Given the description of an element on the screen output the (x, y) to click on. 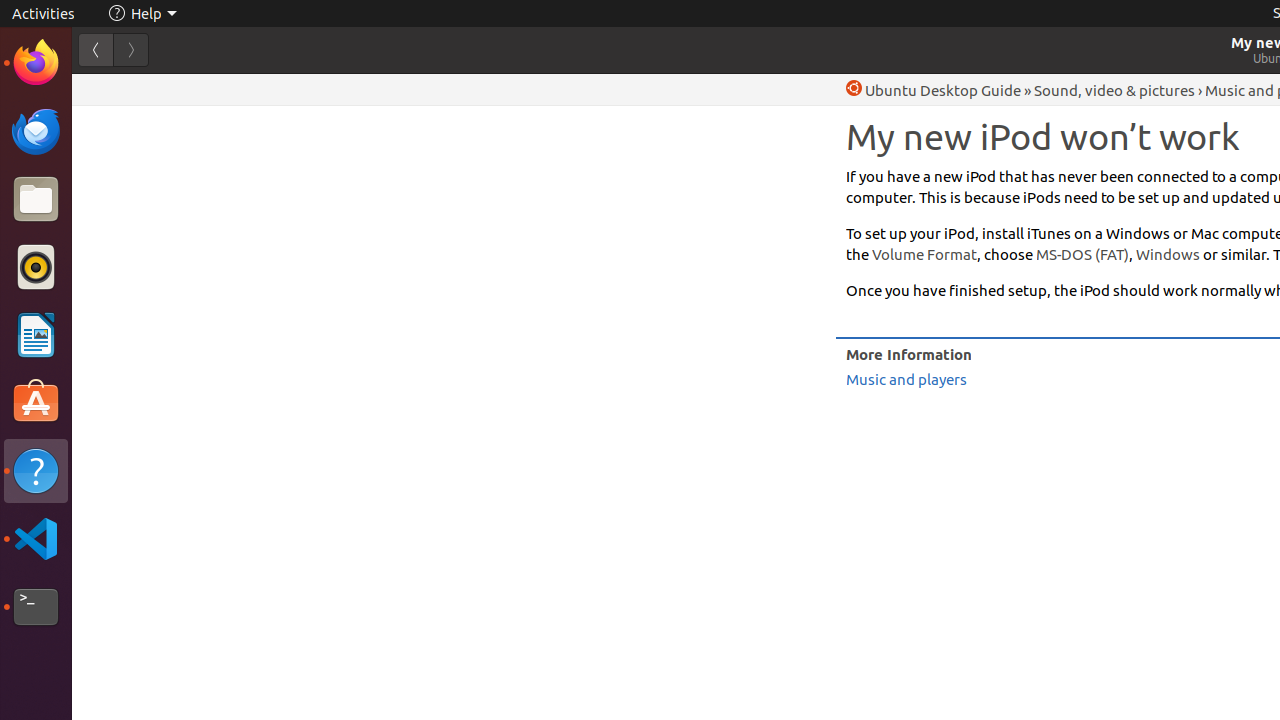
Sound, video & pictures Element type: link (1114, 90)
IsaHelpMain.desktop Element type: label (133, 300)
